Given the description of an element on the screen output the (x, y) to click on. 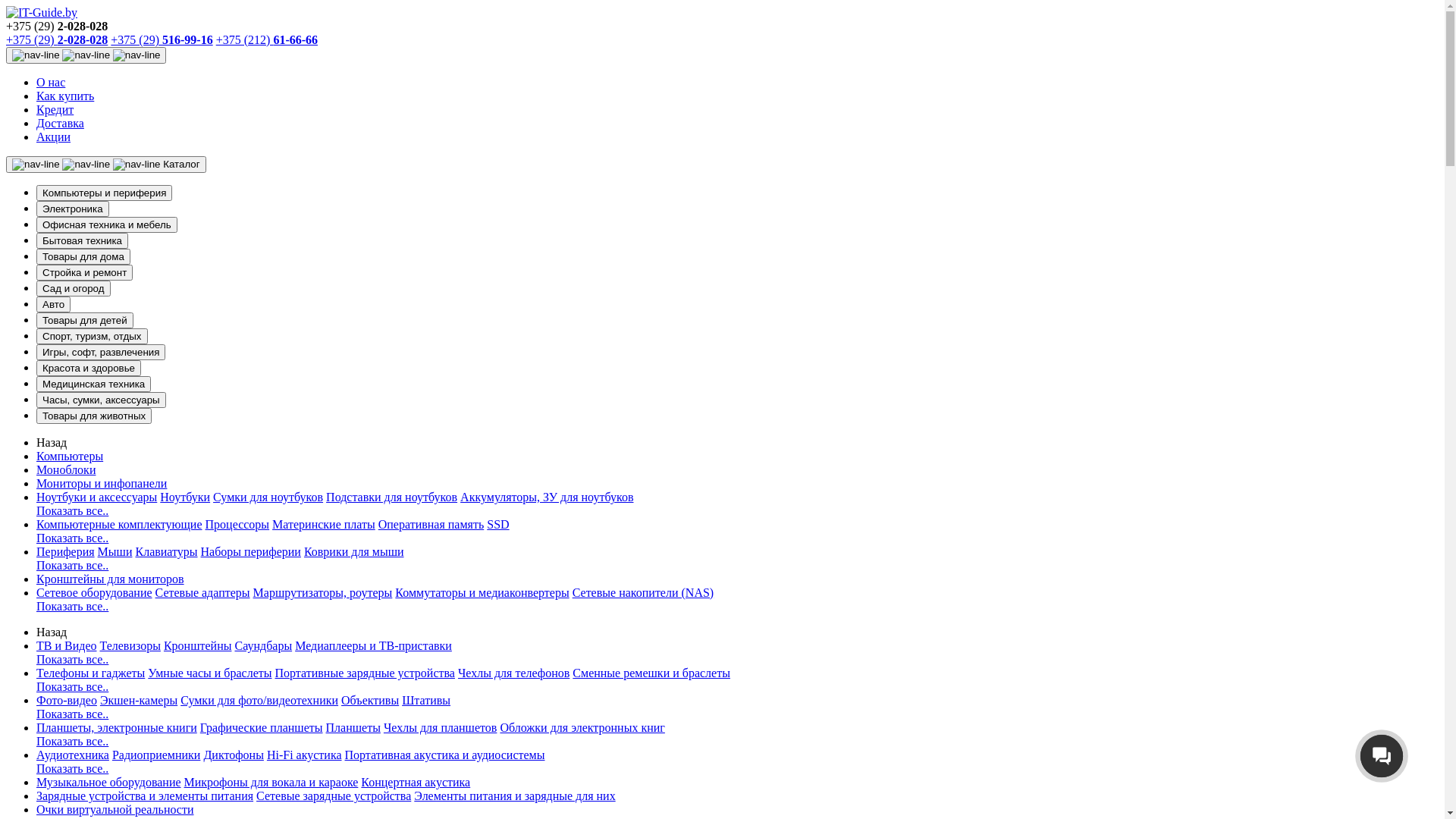
+375 (212) 61-66-66 Element type: text (266, 39)
+375 (29) 2-028-028 Element type: text (56, 39)
SSD Element type: text (497, 523)
+375 (29) 516-99-16 Element type: text (161, 39)
